Given the description of an element on the screen output the (x, y) to click on. 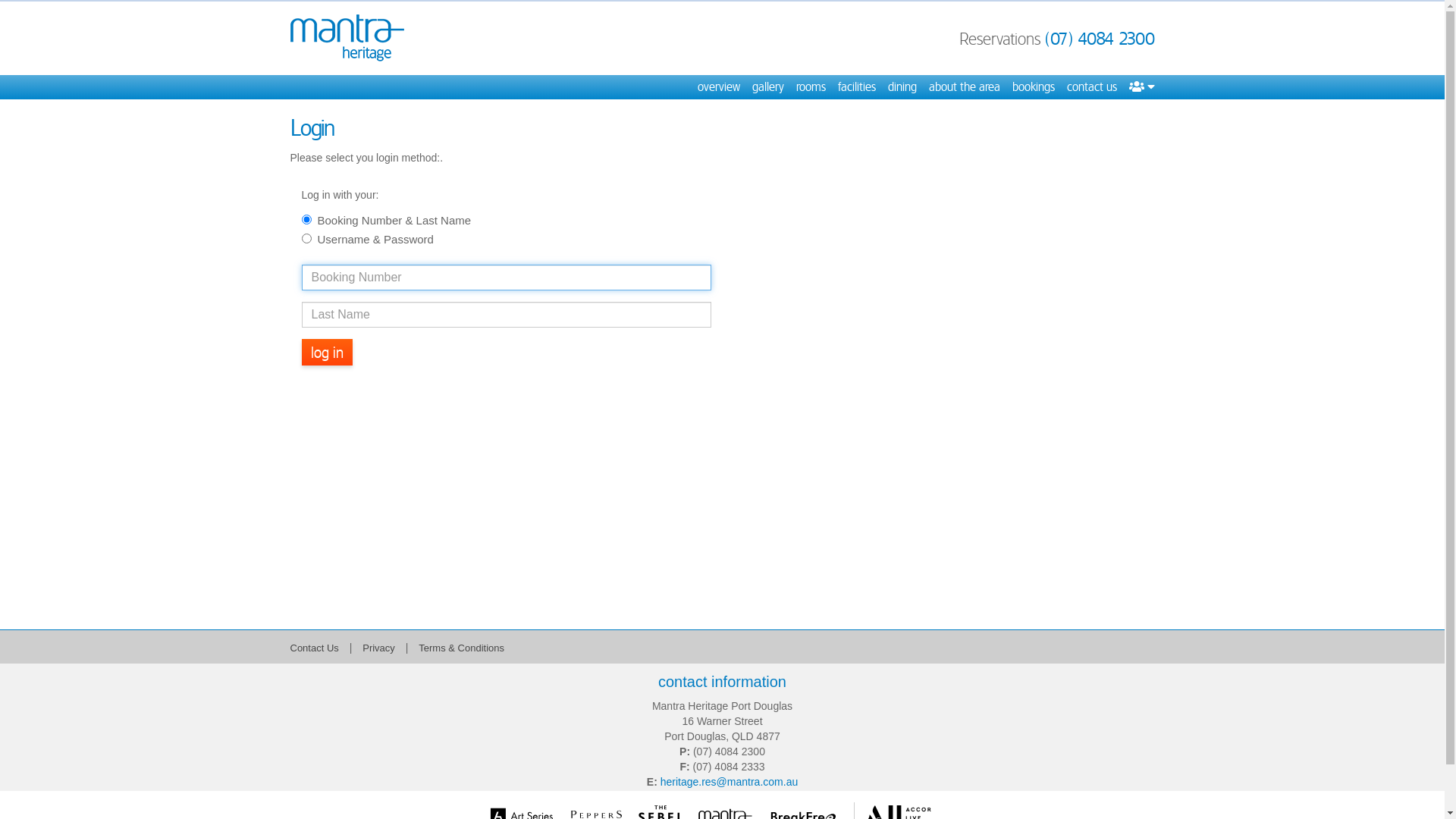
heritage.res@mantra.com.au Element type: text (729, 781)
log in Element type: text (326, 351)
contact us Element type: text (1091, 87)
overview Element type: text (718, 87)
facilities Element type: text (856, 87)
Contact Us Element type: text (313, 647)
Privacy Element type: text (378, 647)
about the area Element type: text (963, 87)
gallery Element type: text (768, 87)
dining Element type: text (901, 87)
(07) 4084 2300 Element type: text (1099, 38)
rooms Element type: text (810, 87)
Mantra Heritage Element type: hover (346, 37)
Terms & Conditions Element type: text (461, 647)
bookings Element type: text (1032, 87)
